Given the description of an element on the screen output the (x, y) to click on. 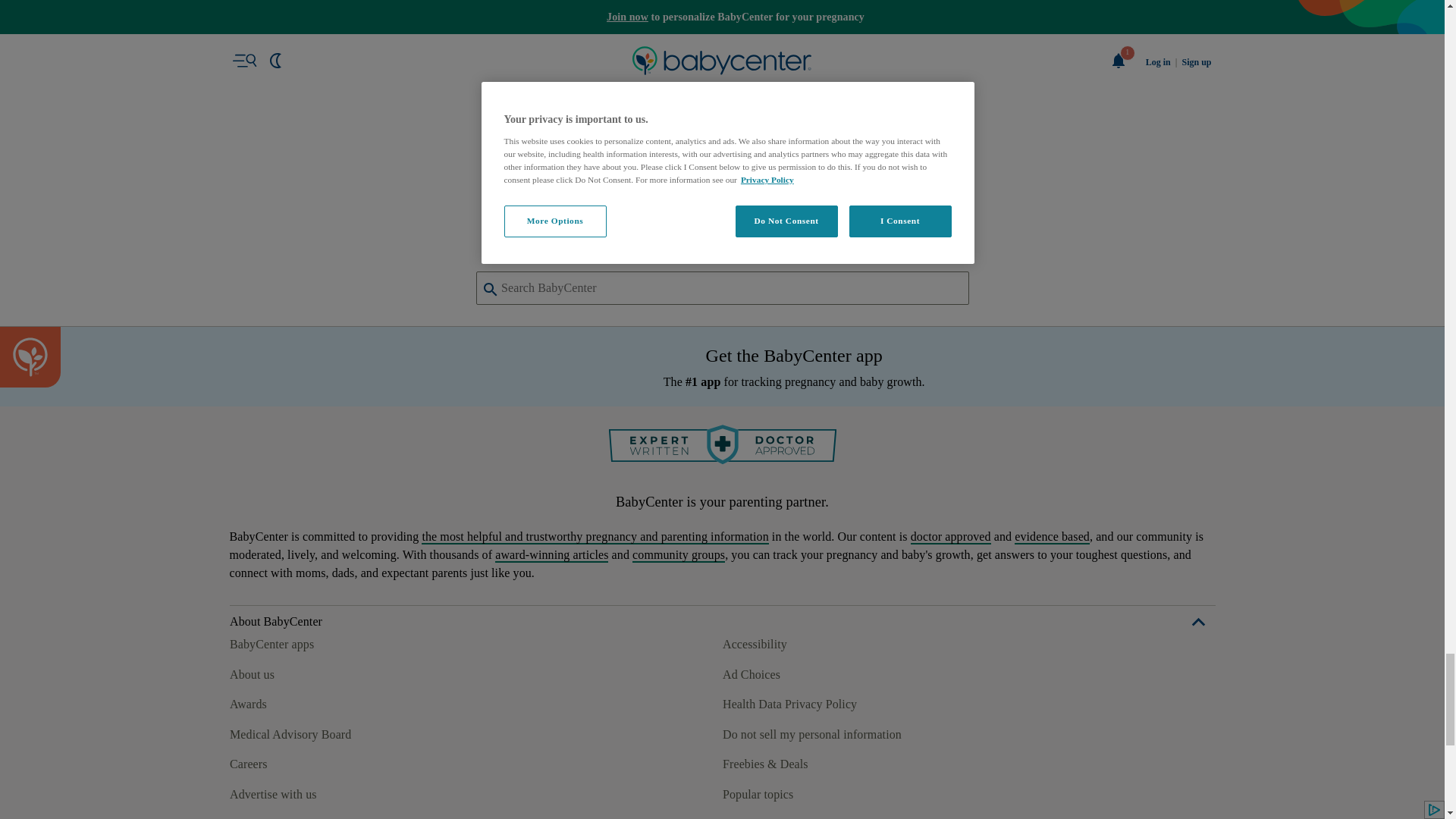
BabyCenter Instagram feed (274, 255)
BabyCenter Twitter feed (379, 255)
BabyCenter YouTube channel (344, 255)
BabyCenter Facebook page (239, 255)
BabyCenter Pinterest board (309, 255)
